Given the description of an element on the screen output the (x, y) to click on. 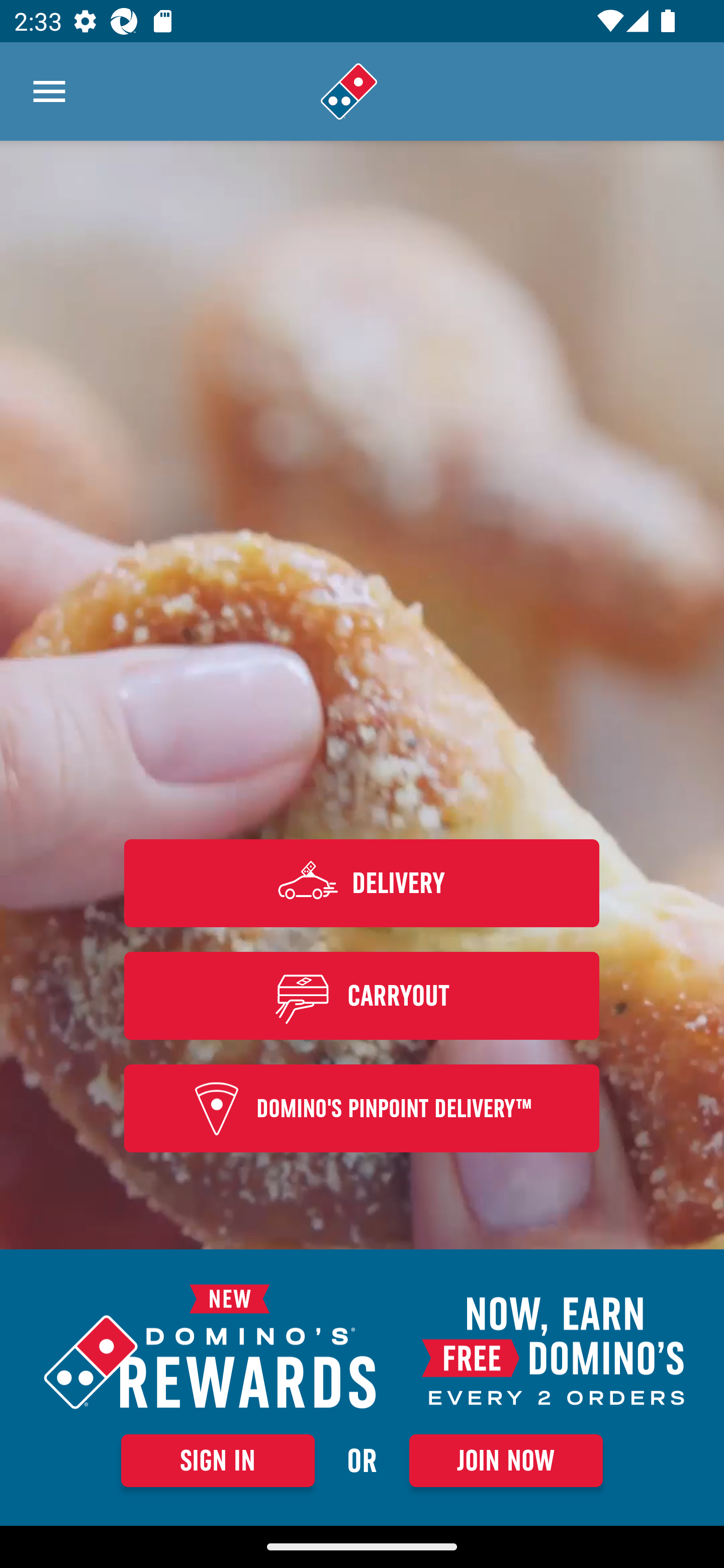
Expand Menu (49, 91)
DELIVERY (361, 882)
CARRYOUT (361, 995)
DOMINO'S PINPOINT DELIVERY™ (361, 1108)
SIGN IN (217, 1460)
JOIN NOW (506, 1460)
